Given the description of an element on the screen output the (x, y) to click on. 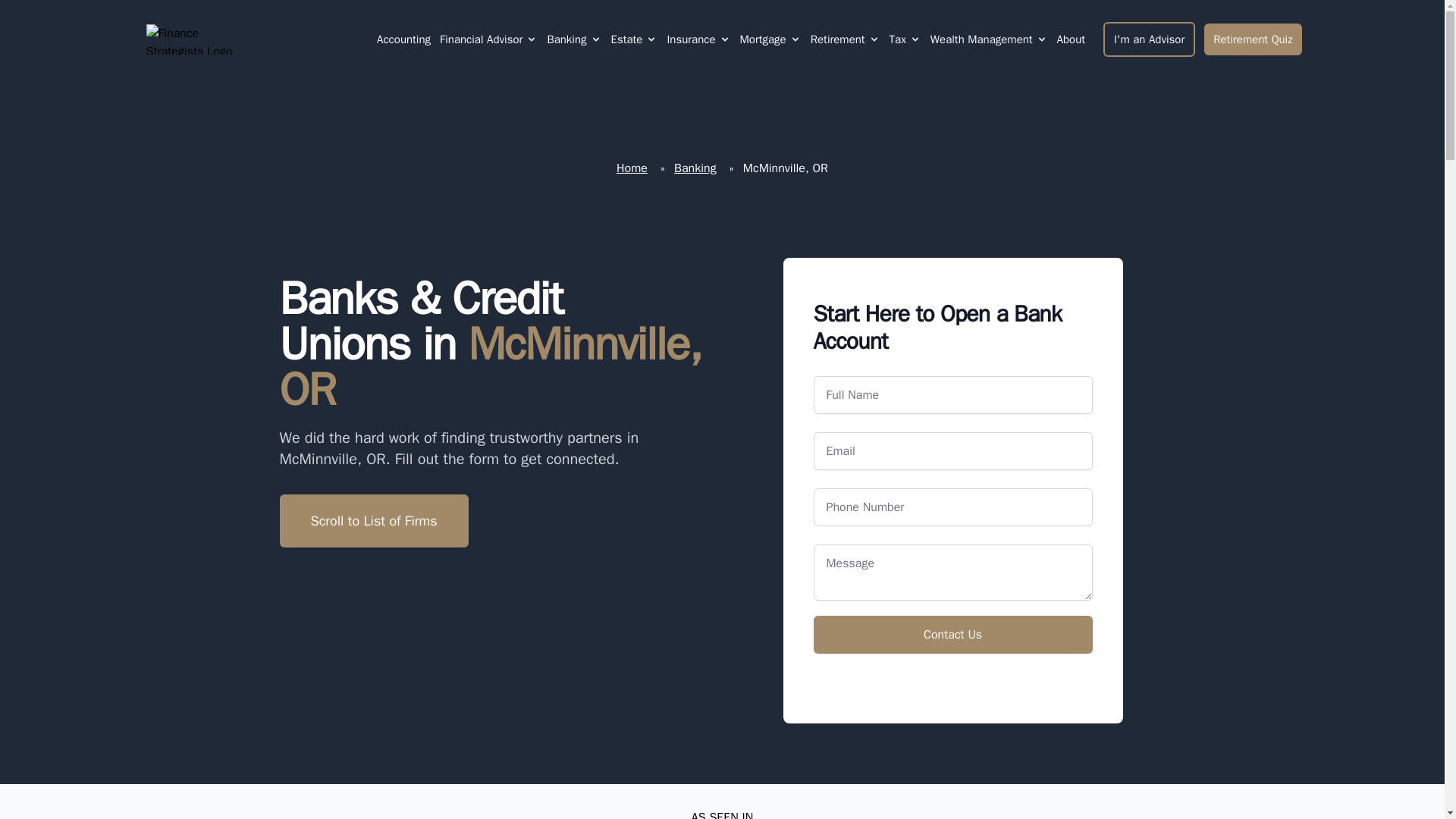
Banking (573, 39)
Banking (566, 39)
Accounting (403, 39)
Finance Strategists (199, 39)
Accounting (403, 39)
Financial Advisor (480, 39)
Financial Advisor (488, 39)
